Given the description of an element on the screen output the (x, y) to click on. 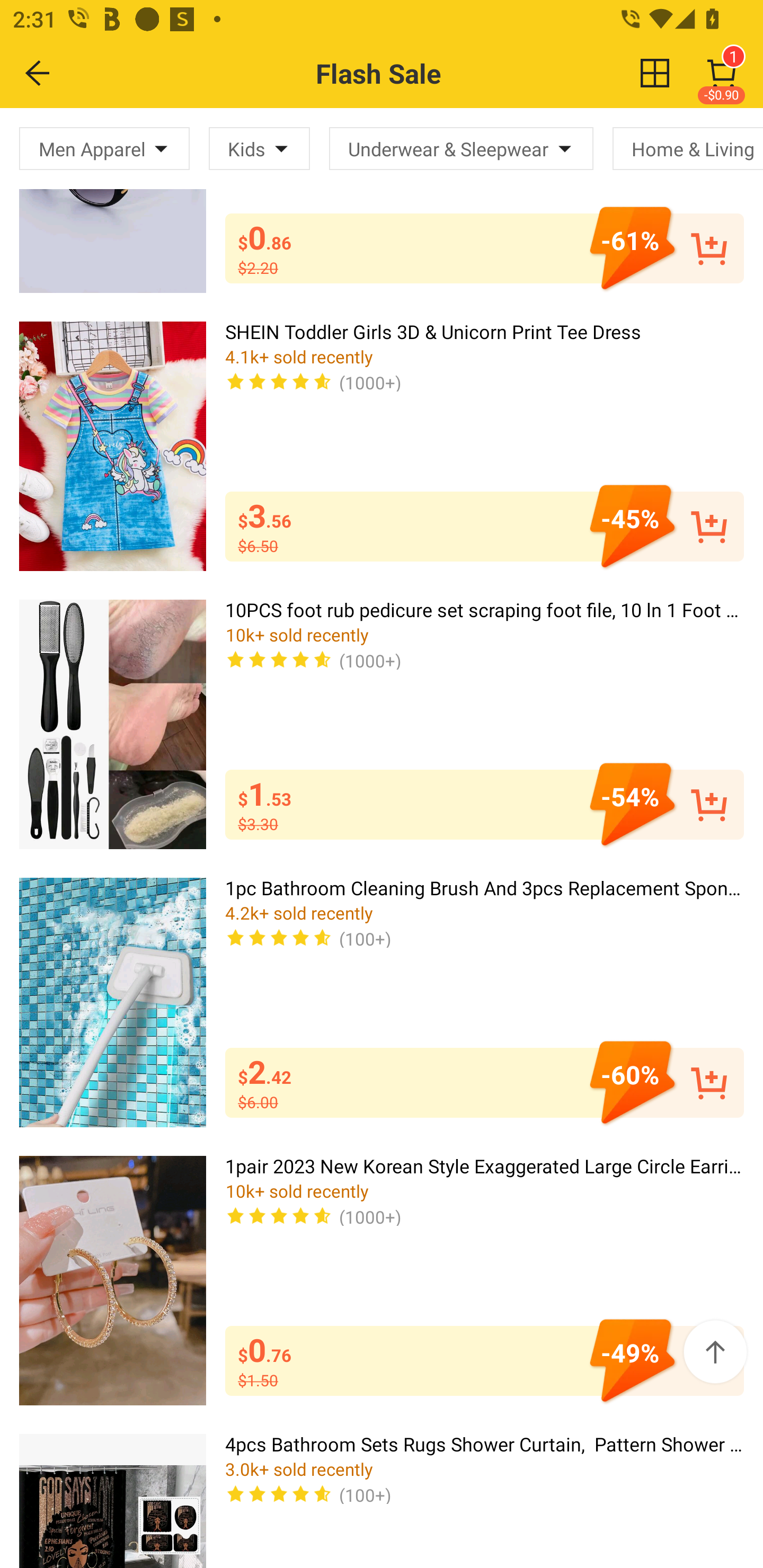
Flash Sale change view 1 -$0.90 (419, 72)
1 -$0.90 (721, 72)
change view (654, 72)
BACK (38, 72)
Men Apparel (104, 148)
Kids (259, 148)
Underwear & Sleepwear (460, 148)
Home & Living (687, 148)
SHEIN Toddler Girls 3D & Unicorn Print Tee Dress (112, 445)
